Given the description of an element on the screen output the (x, y) to click on. 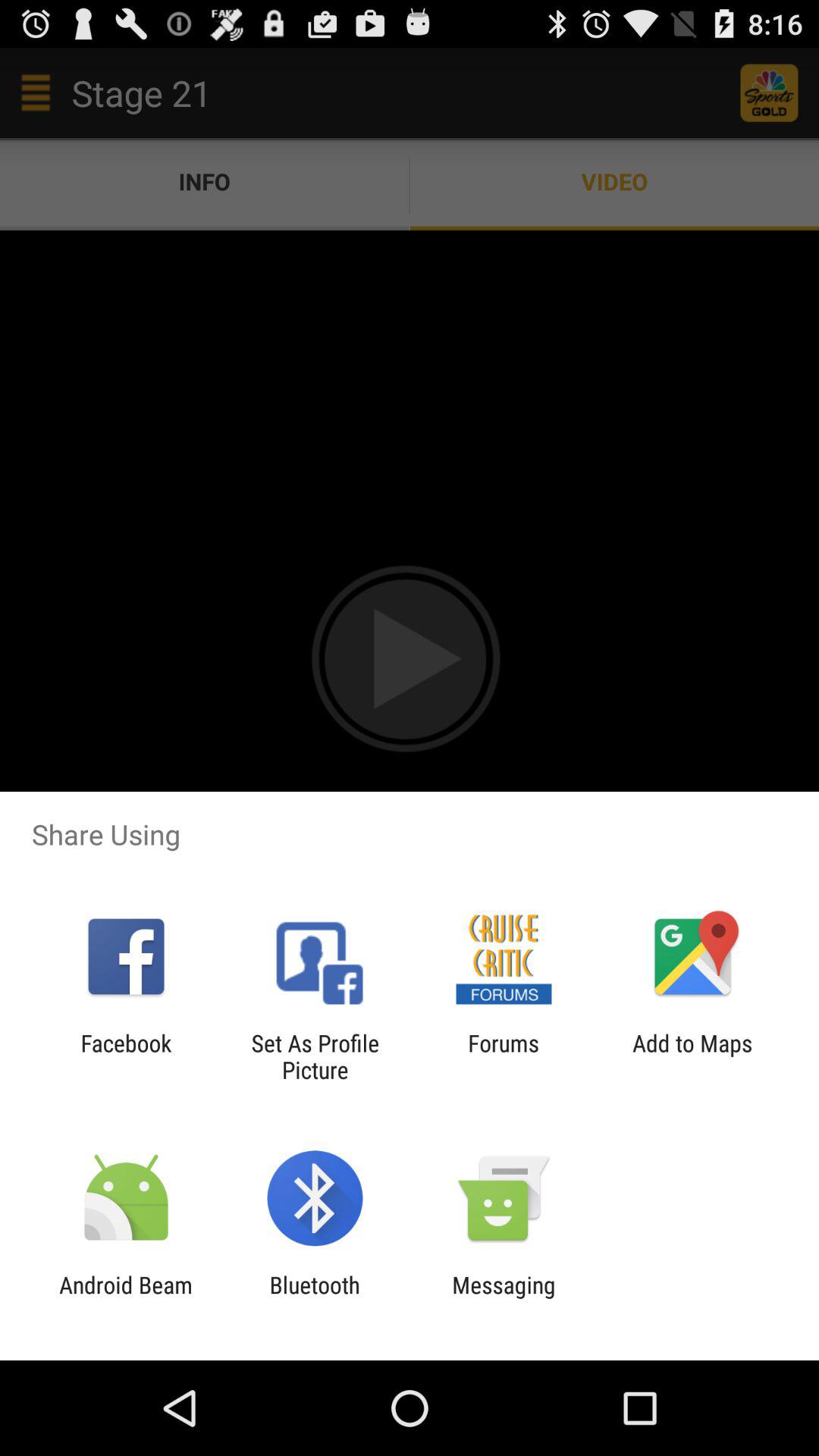
open icon next to the facebook icon (314, 1056)
